Given the description of an element on the screen output the (x, y) to click on. 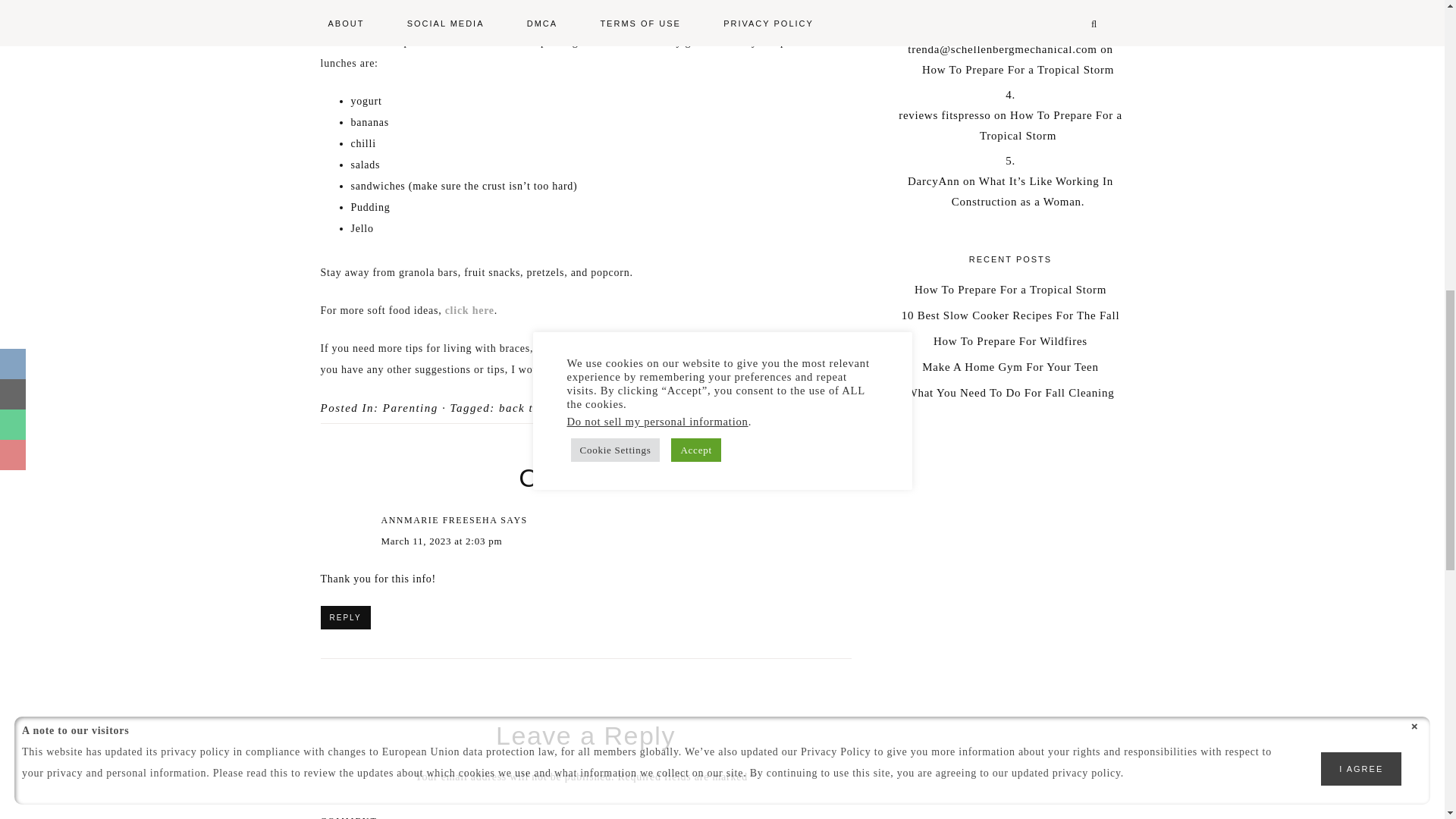
click here (470, 310)
braces (607, 408)
March 11, 2023 at 2:03 pm (441, 541)
back to school (539, 408)
here (794, 348)
REPLY (344, 617)
braces kit (661, 408)
ortho (712, 408)
Parenting (410, 408)
